Given the description of an element on the screen output the (x, y) to click on. 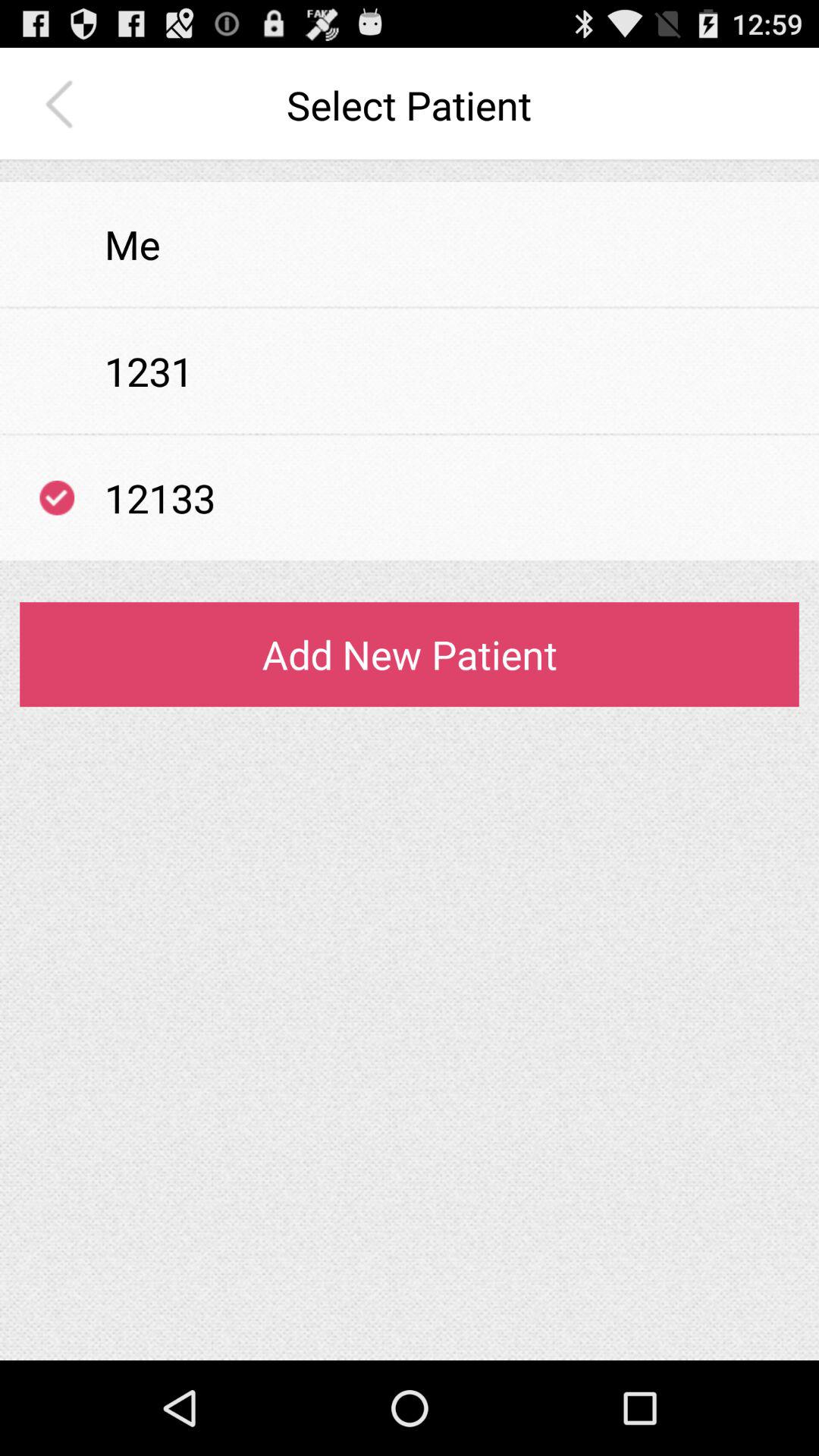
open the item to the left of 12133 item (56, 497)
